Given the description of an element on the screen output the (x, y) to click on. 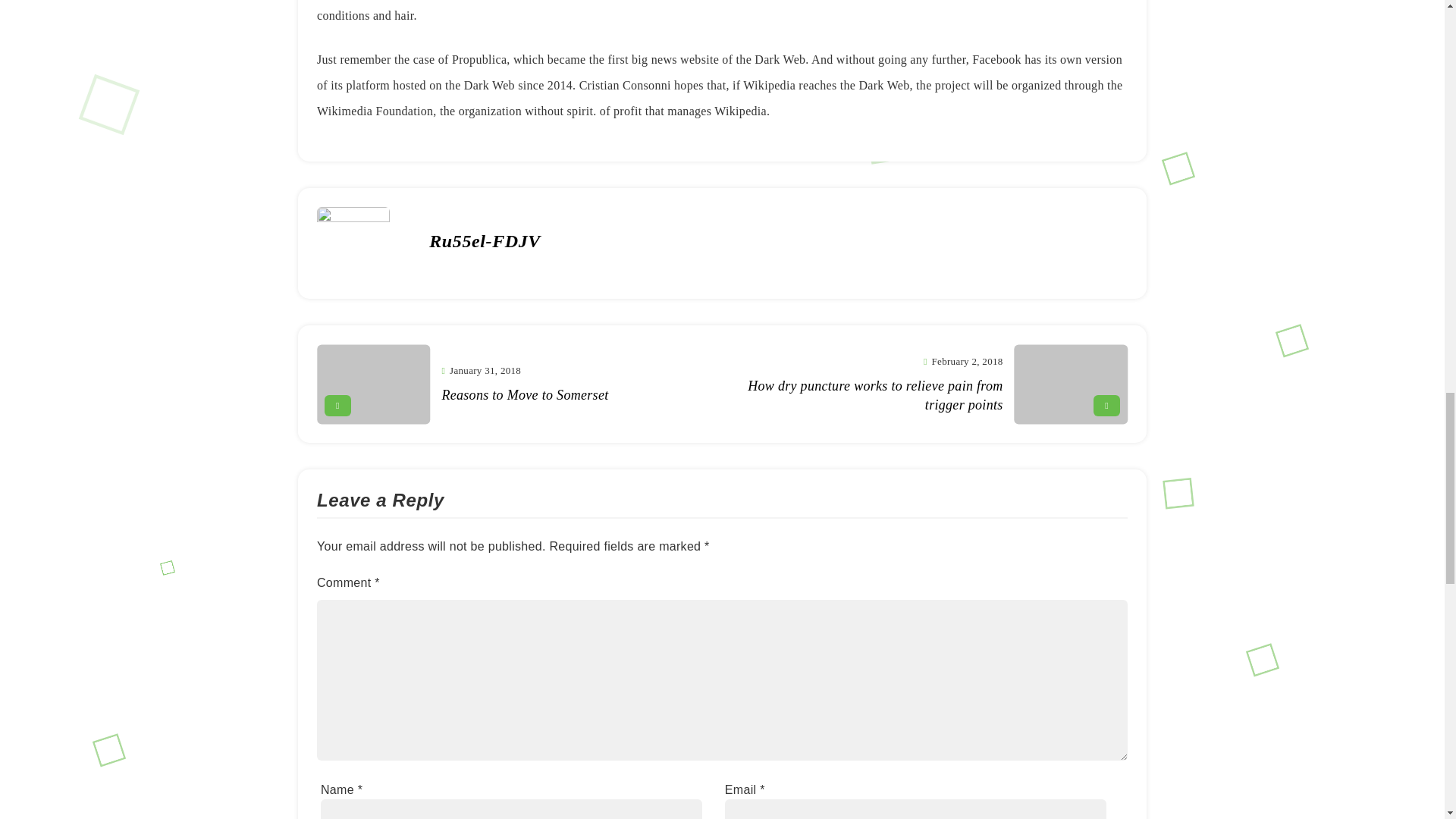
Ru55el-FDJV (511, 383)
